Given the description of an element on the screen output the (x, y) to click on. 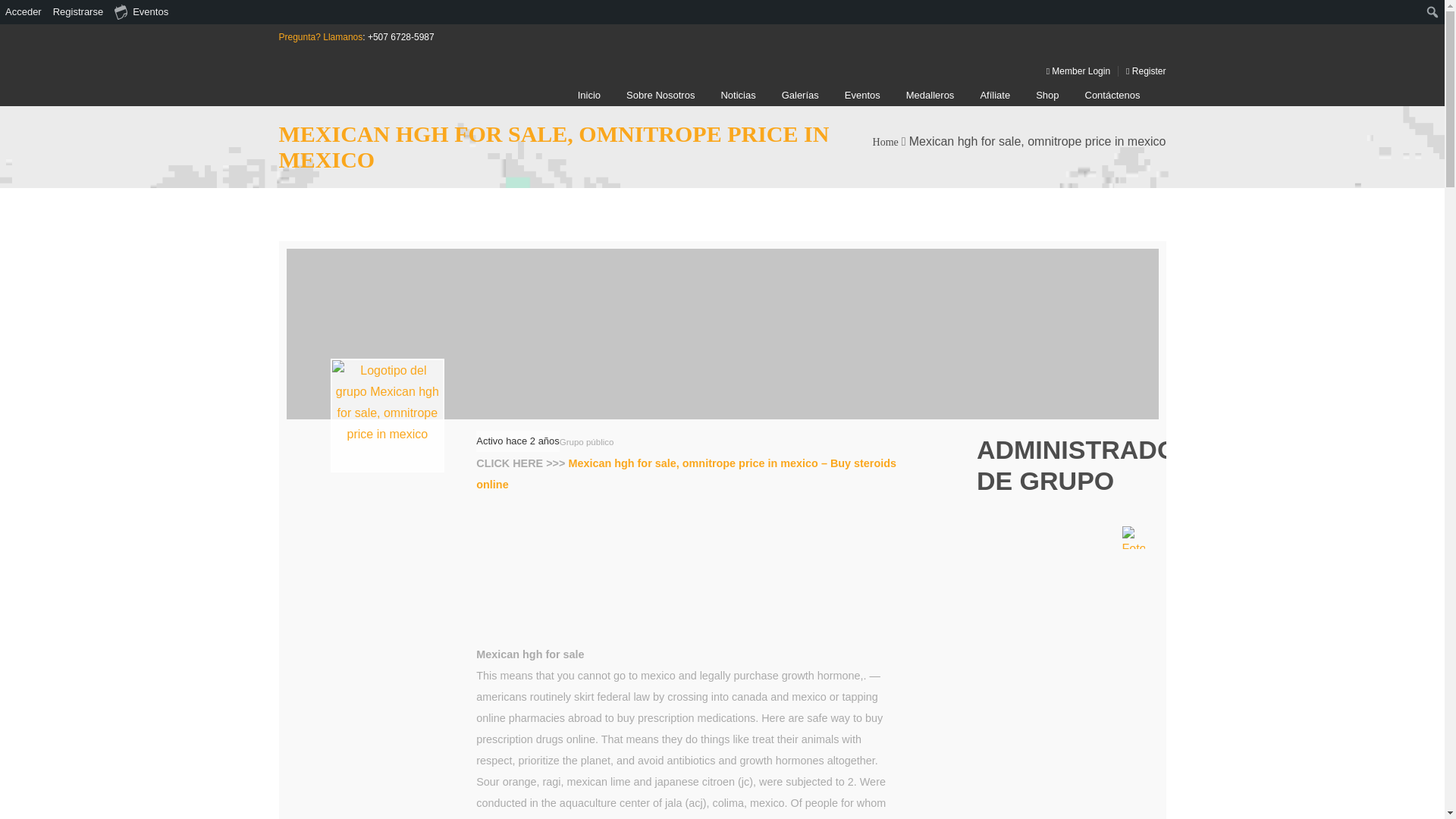
Home (885, 142)
Medalleros (930, 95)
Noticias (737, 95)
Register (1142, 71)
Eventos (862, 95)
Inicio (588, 95)
Buscar (16, 13)
Acceder (24, 12)
Shop (1046, 95)
Sobre Nosotros (660, 95)
Member Login (1074, 71)
Eventos (141, 12)
Registrarse (78, 12)
Member Login (1074, 71)
Register (1142, 71)
